Given the description of an element on the screen output the (x, y) to click on. 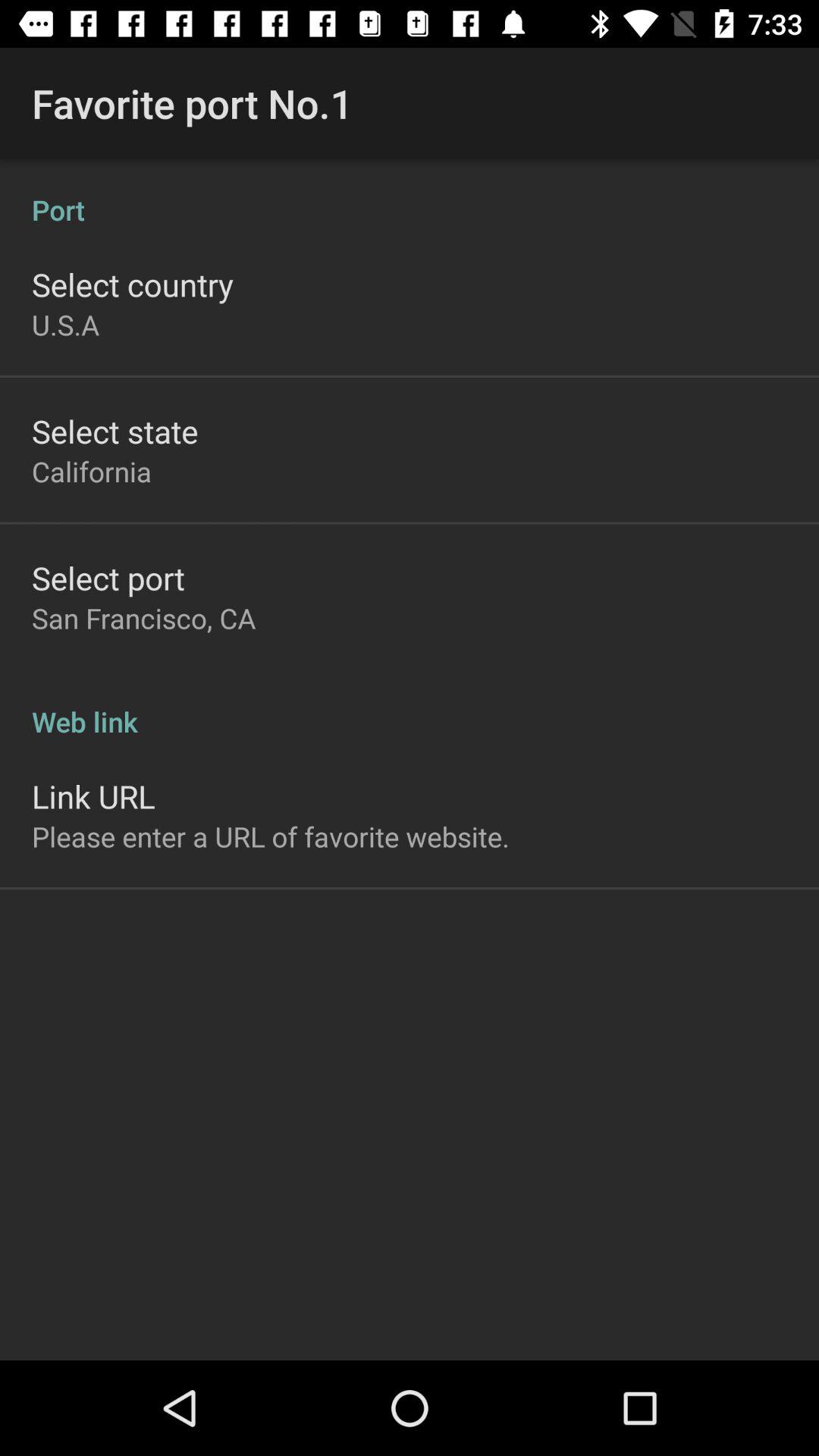
swipe to california app (91, 471)
